Given the description of an element on the screen output the (x, y) to click on. 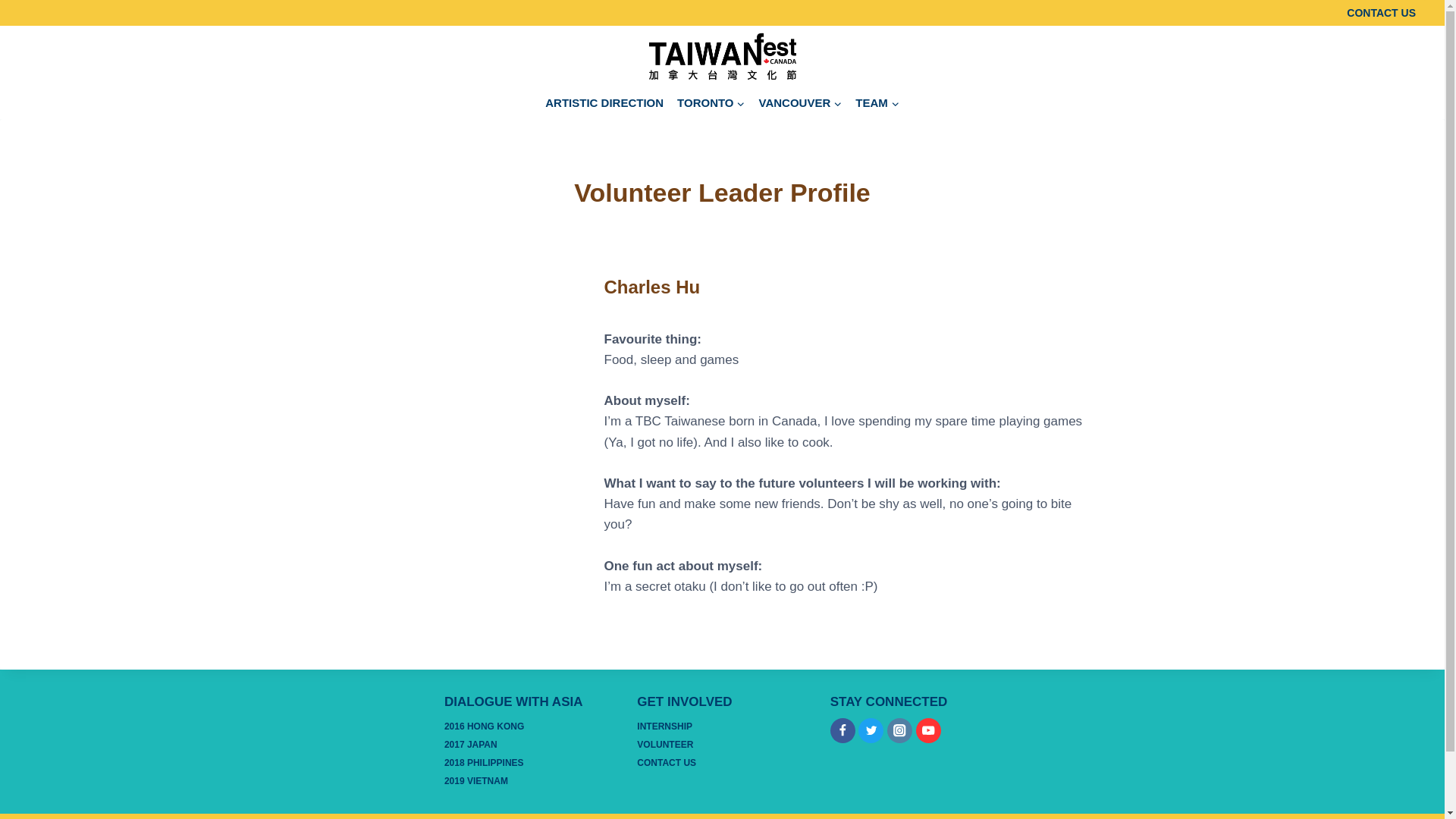
2017 JAPAN (529, 745)
2019 VIETNAM (529, 782)
CONTACT US (721, 763)
TORONTO (710, 102)
2016 HONG KONG (529, 727)
CONTACT US (1381, 12)
VANCOUVER (800, 102)
2018 PHILIPPINES (529, 763)
TEAM (876, 102)
INTERNSHIP (721, 727)
